Given the description of an element on the screen output the (x, y) to click on. 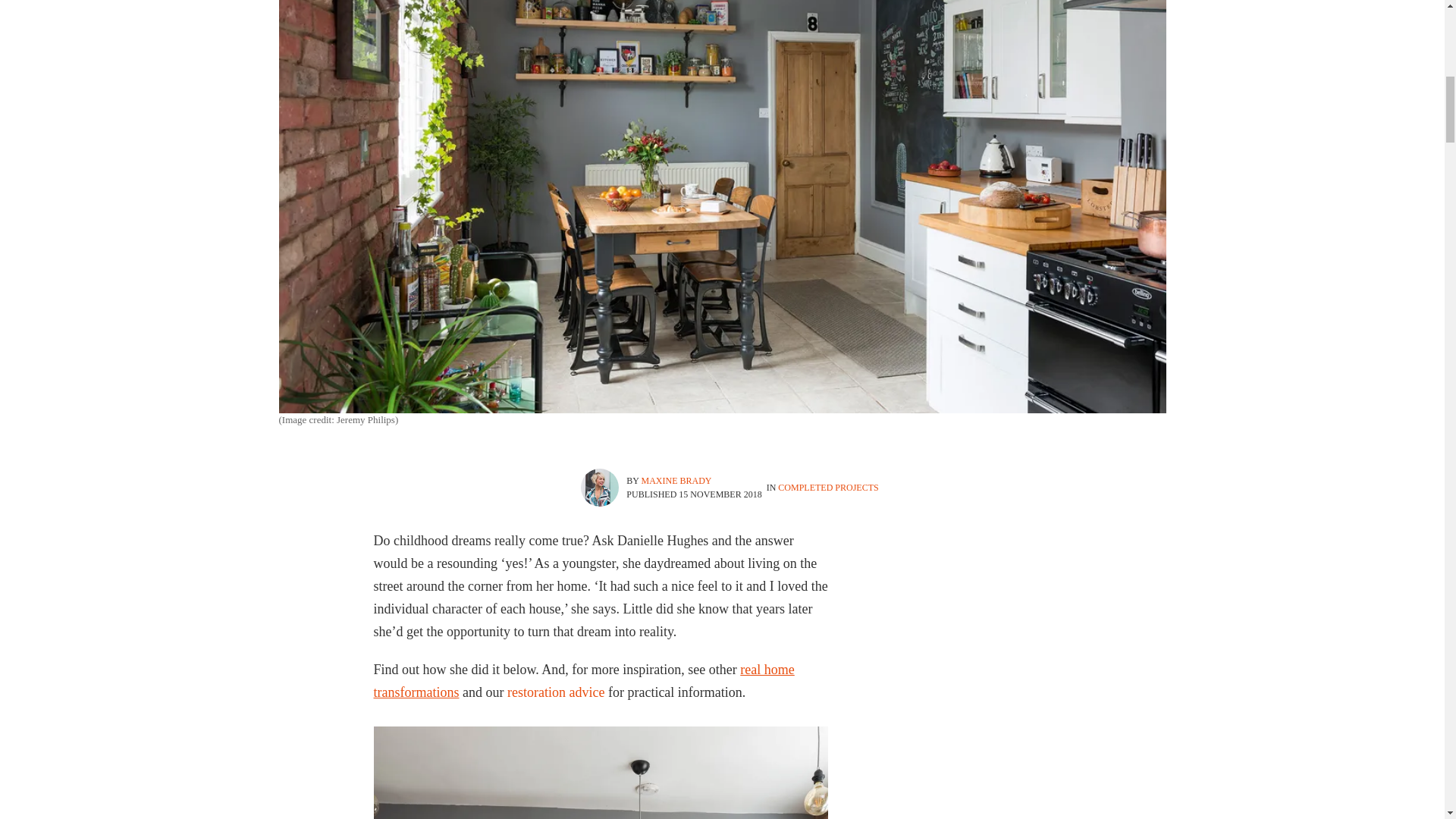
MAXINE BRADY (676, 480)
COMPLETED PROJECTS (827, 487)
real home transformations (582, 680)
